Given the description of an element on the screen output the (x, y) to click on. 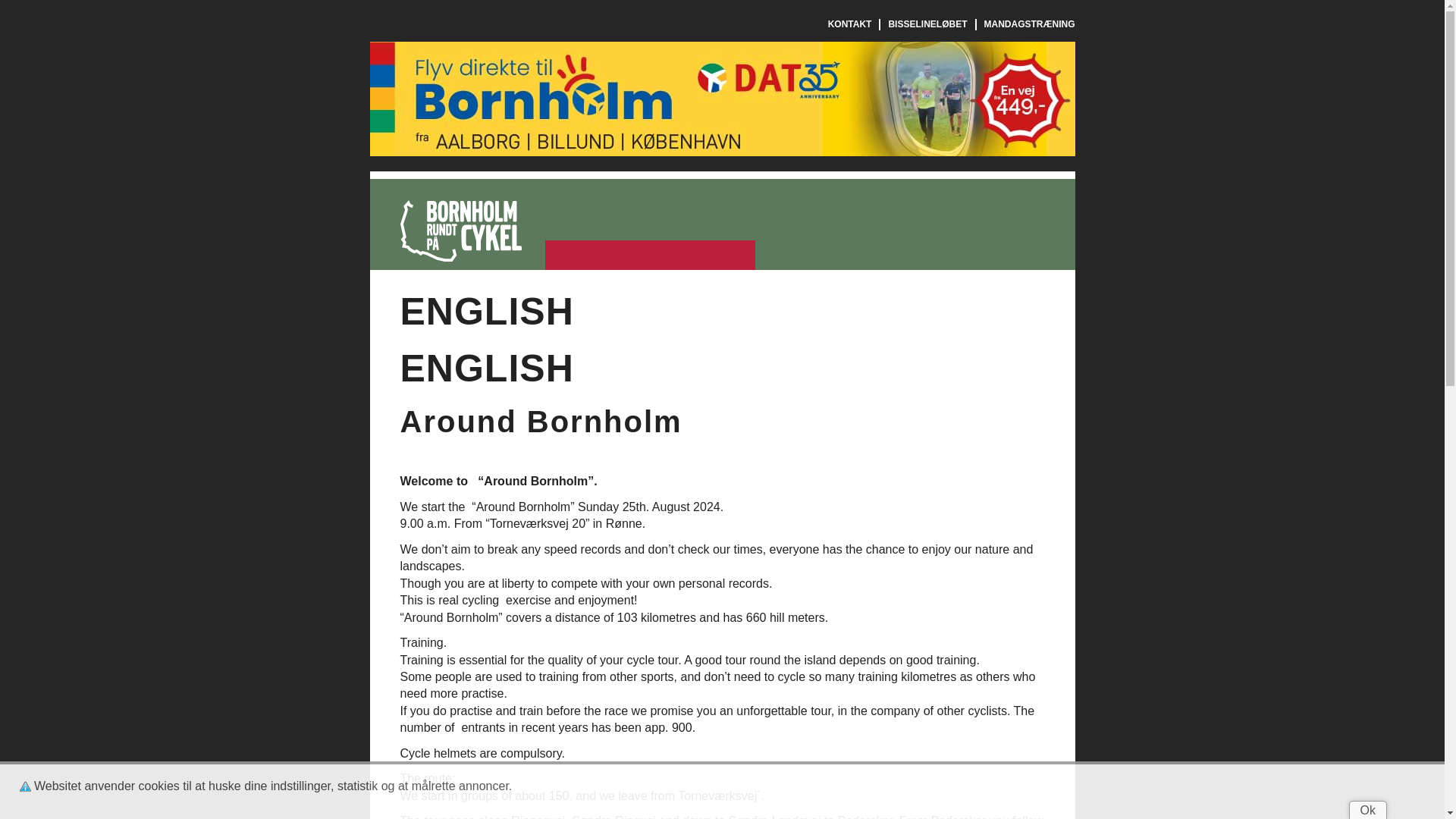
KONTAKT (850, 24)
